Given the description of an element on the screen output the (x, y) to click on. 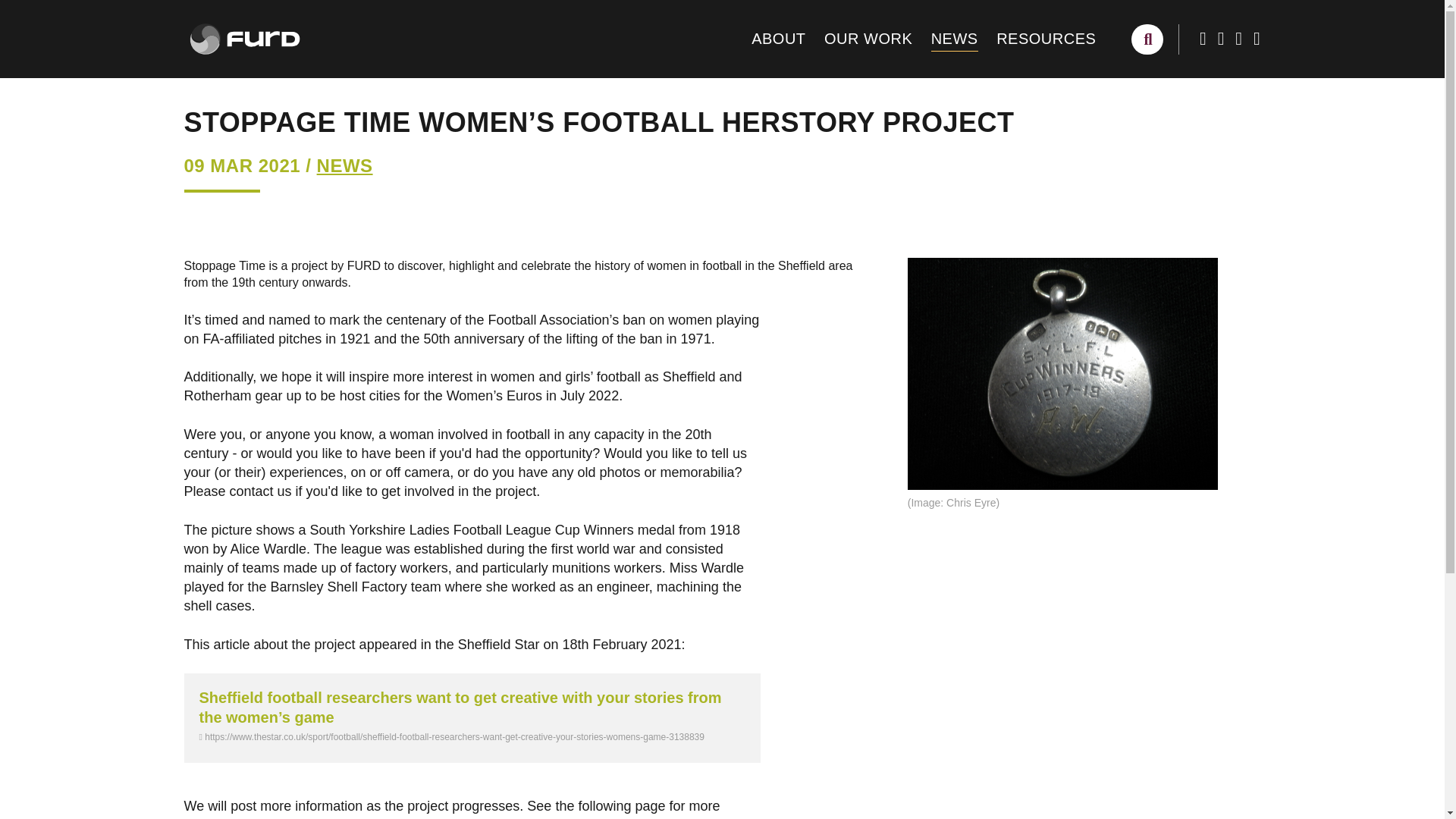
News (954, 39)
NEWS (344, 165)
Our Work (868, 39)
Resources (1045, 39)
ABOUT (778, 39)
OUR WORK (868, 39)
RESOURCES (1045, 39)
About (778, 39)
NEWS (954, 39)
